Given the description of an element on the screen output the (x, y) to click on. 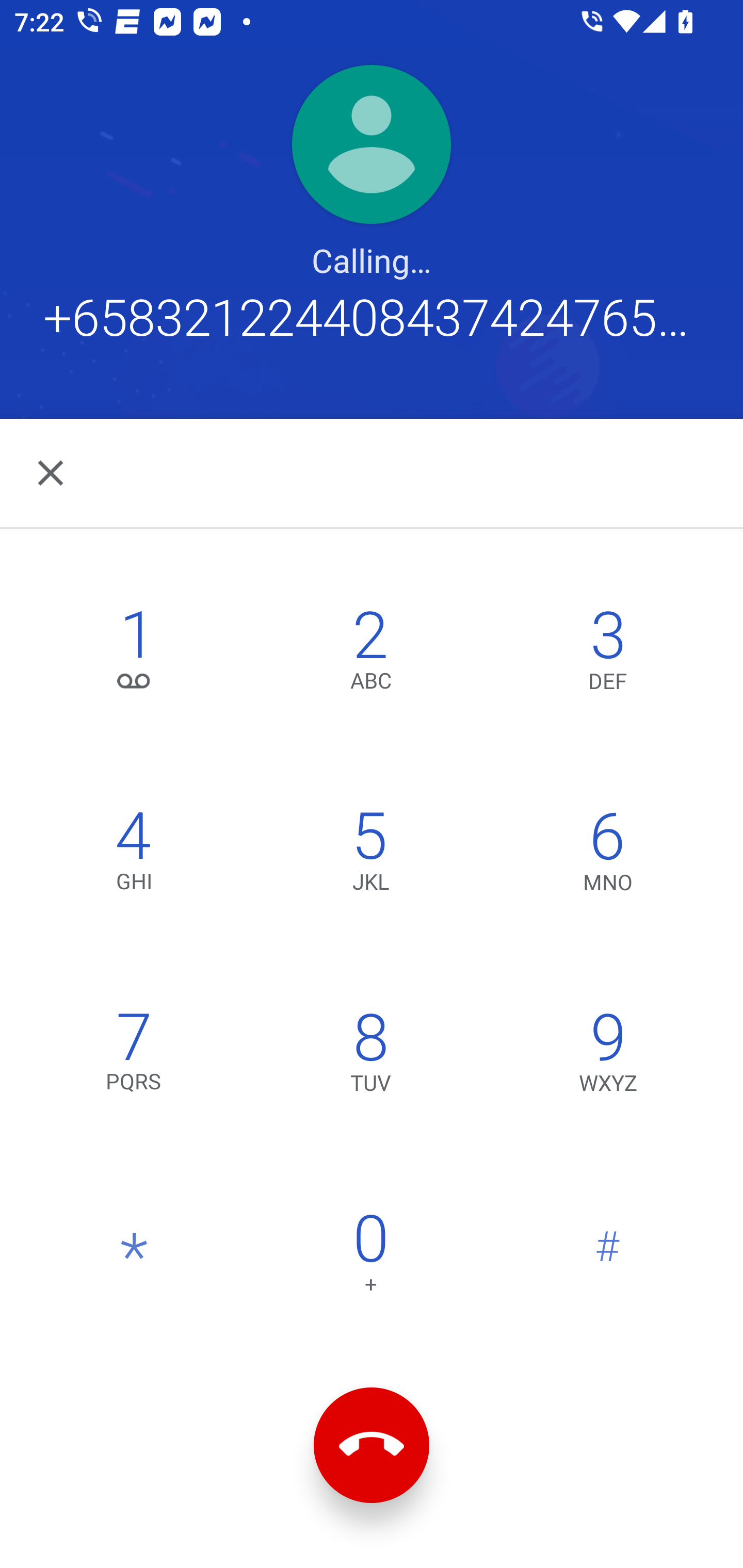
Navigate back (52, 472)
1, 1 (133, 655)
2,ABC 2 ABC (370, 655)
3,DEF 3 DEF (607, 655)
4,GHI 4 GHI (133, 855)
5,JKL 5 JKL (370, 855)
6,MNO 6 MNO (607, 855)
7,PQRS 7 PQRS (133, 1056)
8,TUV 8 TUV (370, 1056)
9,WXYZ 9 WXYZ (607, 1056)
* (133, 1257)
0 0 + (370, 1257)
# (607, 1257)
End call (371, 1445)
